Given the description of an element on the screen output the (x, y) to click on. 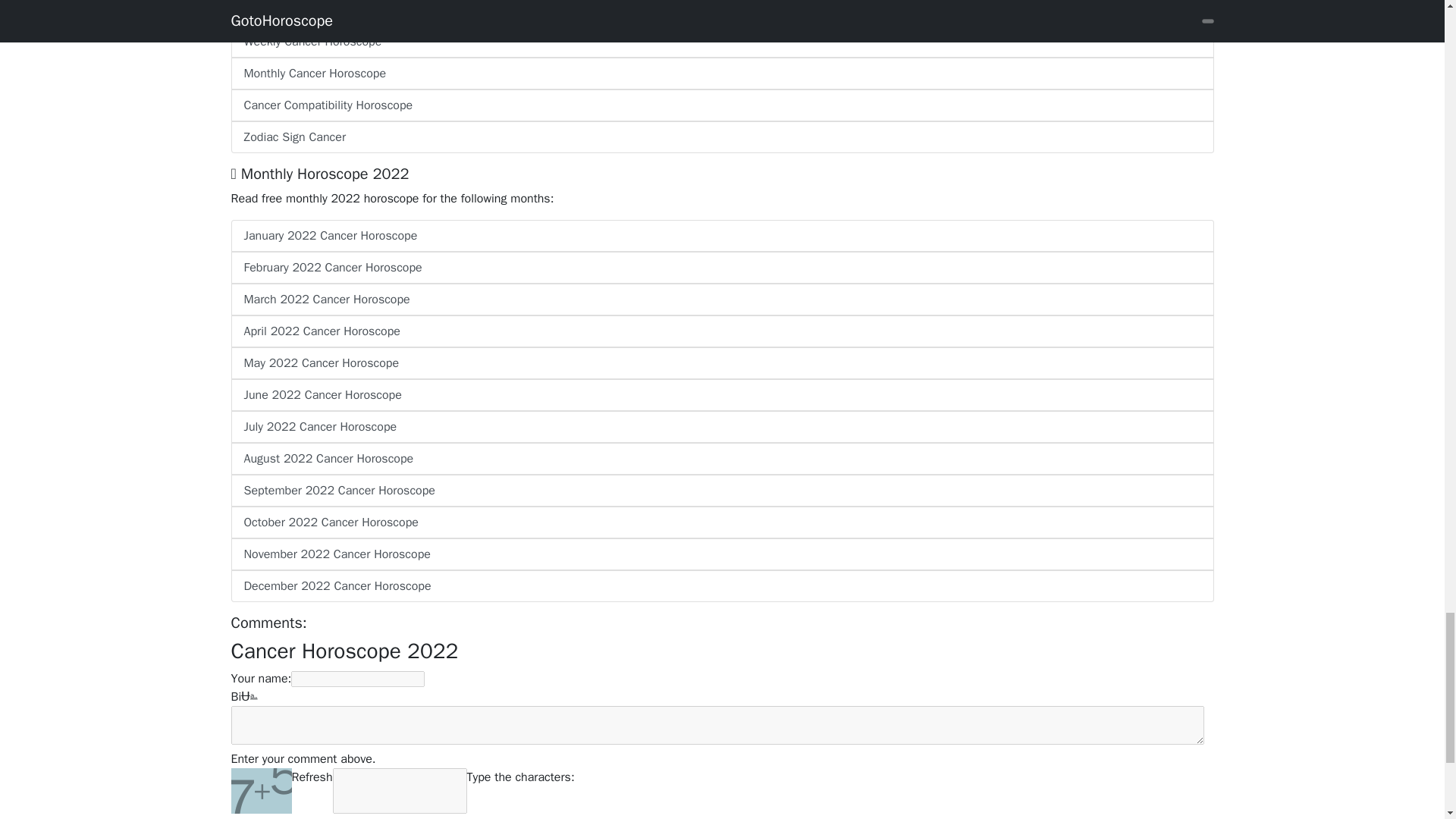
April 2022 Cancer Horoscope (721, 331)
September 2022 Cancer Horoscope (721, 490)
January 2022 Cancer Horoscope (721, 235)
Weekly Cancer Horoscope (721, 41)
August 2022 Cancer Horoscope (721, 459)
October 2022 Cancer Horoscope (721, 522)
November 2022 Cancer Horoscope (721, 554)
Cancer Compatibility Horoscope (721, 105)
Cancer Tomorrow Horoscope (721, 12)
June 2022 Cancer Horoscope (721, 395)
